Given the description of an element on the screen output the (x, y) to click on. 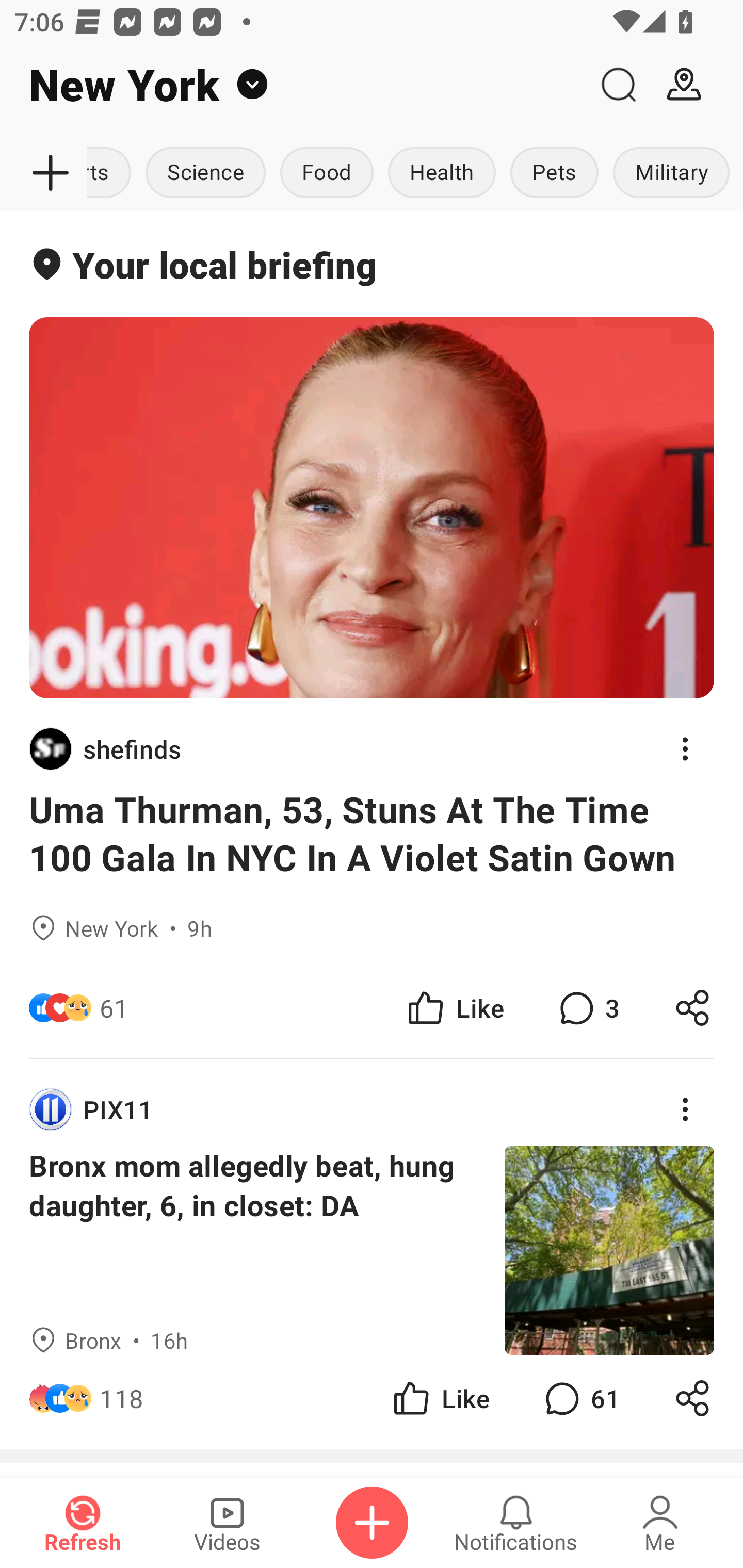
New York (292, 84)
Sports (112, 172)
Science (205, 172)
Food (326, 172)
Health (441, 172)
Pets (554, 172)
Military (671, 172)
61 (113, 1007)
Like (454, 1007)
3 (587, 1007)
118 (121, 1397)
Like (439, 1397)
61 (579, 1397)
Videos (227, 1522)
Notifications (516, 1522)
Me (659, 1522)
